Given the description of an element on the screen output the (x, y) to click on. 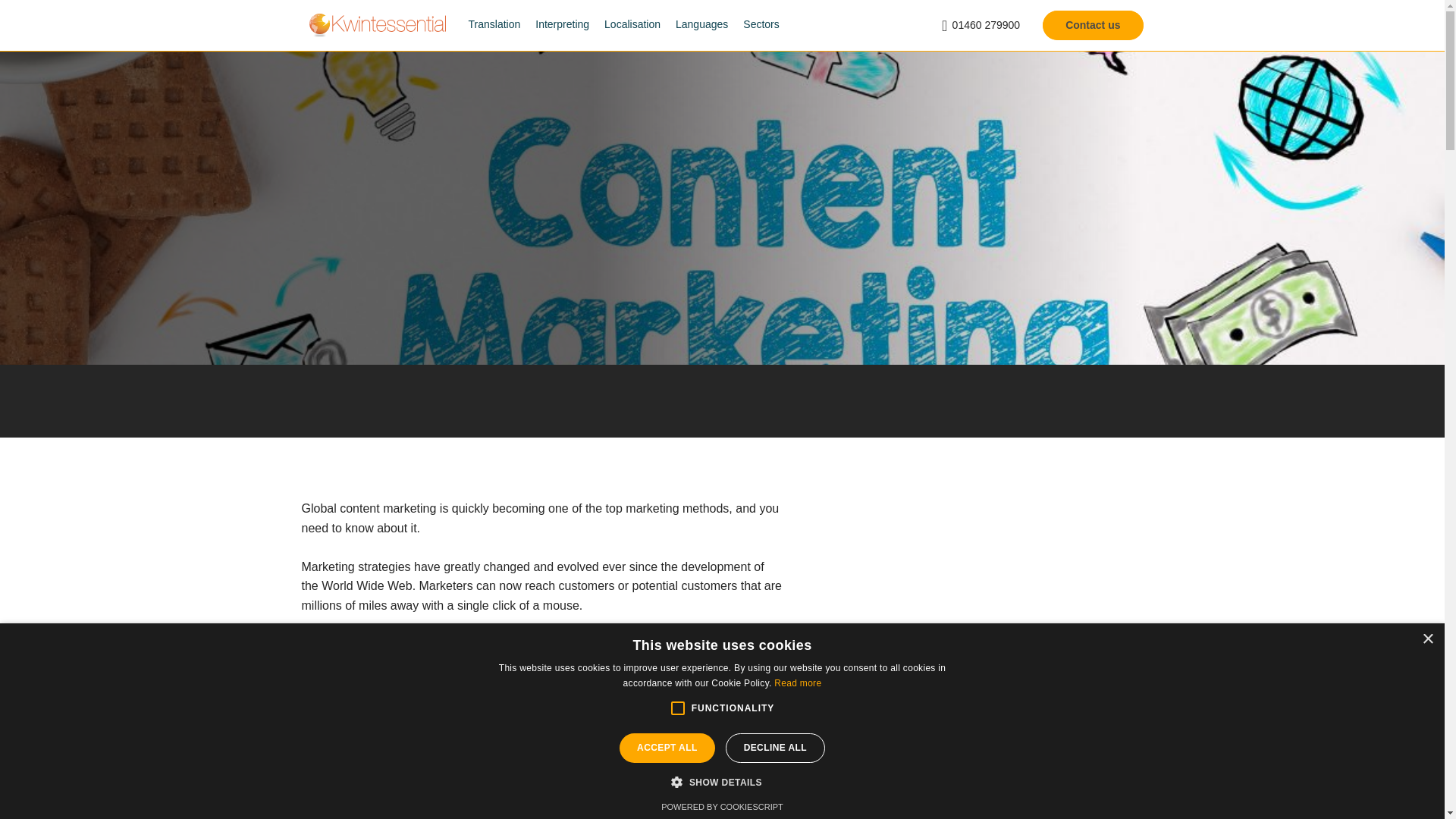
Localisation (632, 28)
Contact us (1092, 24)
Languages (701, 28)
Interpreting (562, 28)
01460 279900 (981, 25)
Translation (494, 28)
Consent Management Platform (722, 806)
